Given the description of an element on the screen output the (x, y) to click on. 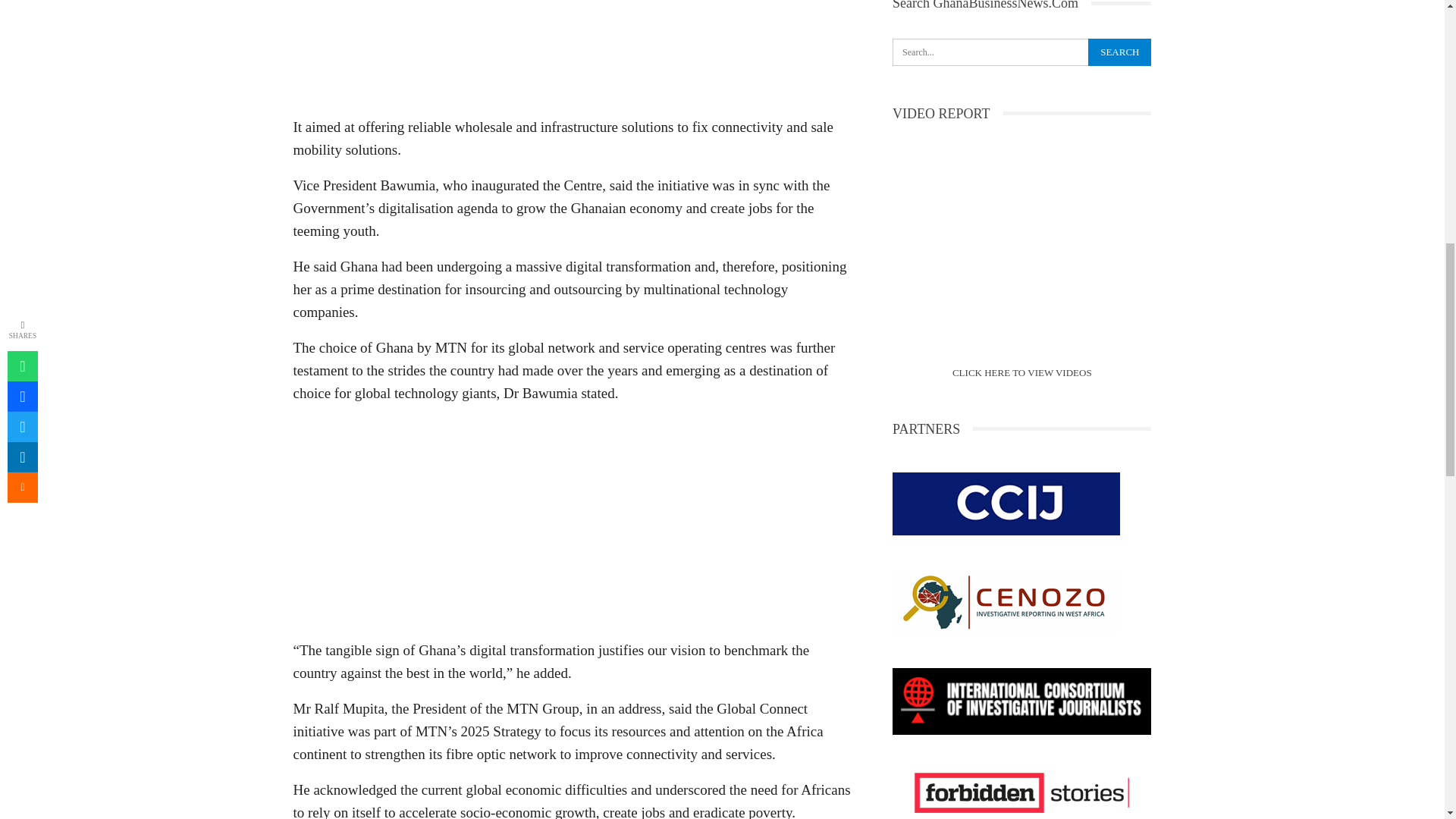
Search (1119, 52)
Search (1119, 52)
Advertisement (574, 53)
Advertisement (574, 523)
